Given the description of an element on the screen output the (x, y) to click on. 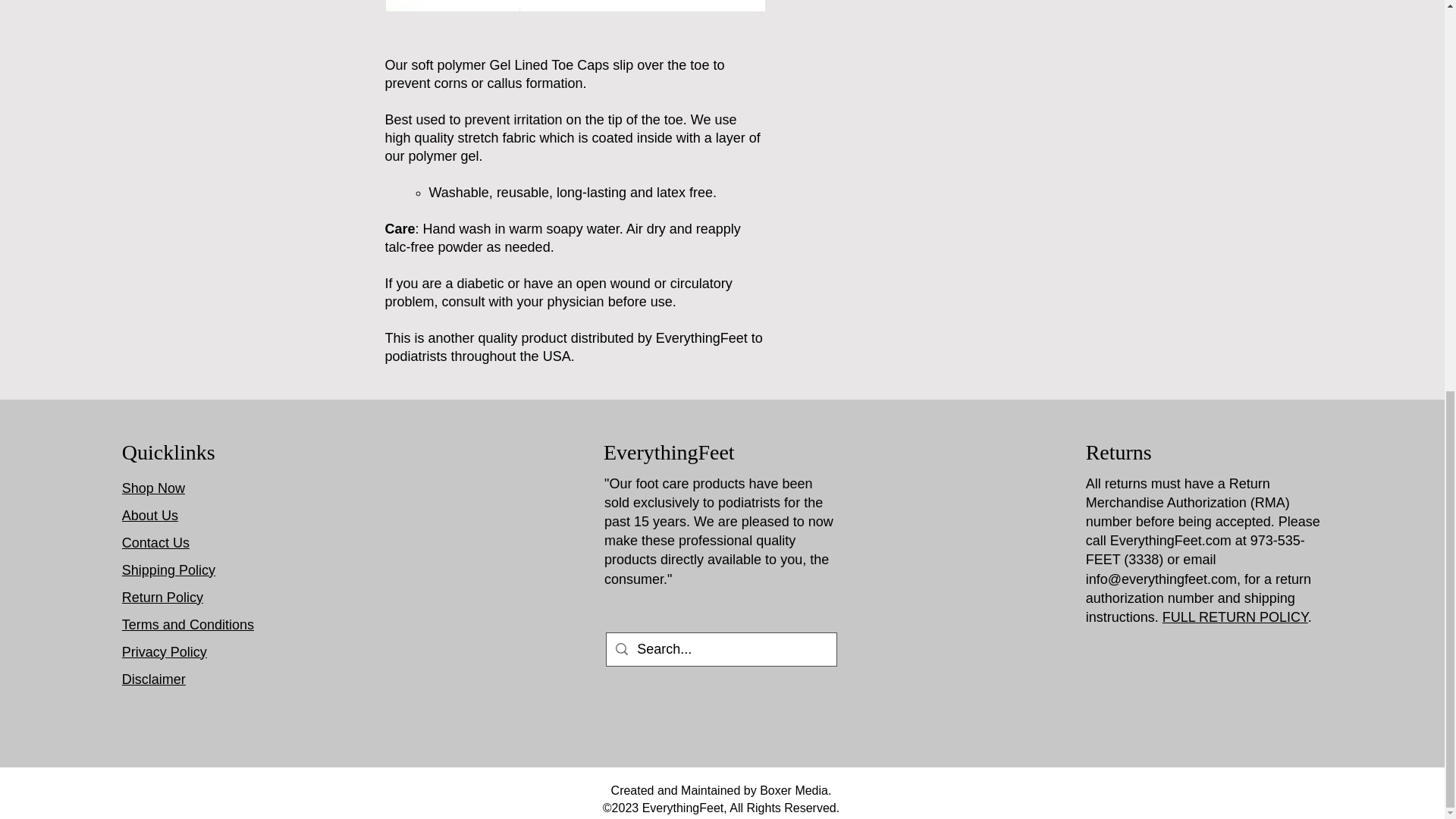
Shop Now (153, 488)
About Us (149, 515)
Contact Us (155, 542)
Disclaimer (154, 679)
FULL RETURN POLICY (1234, 616)
Terms and Conditions (187, 624)
Shipping Policy (168, 570)
Return Policy (162, 597)
Privacy Policy (164, 652)
